Given the description of an element on the screen output the (x, y) to click on. 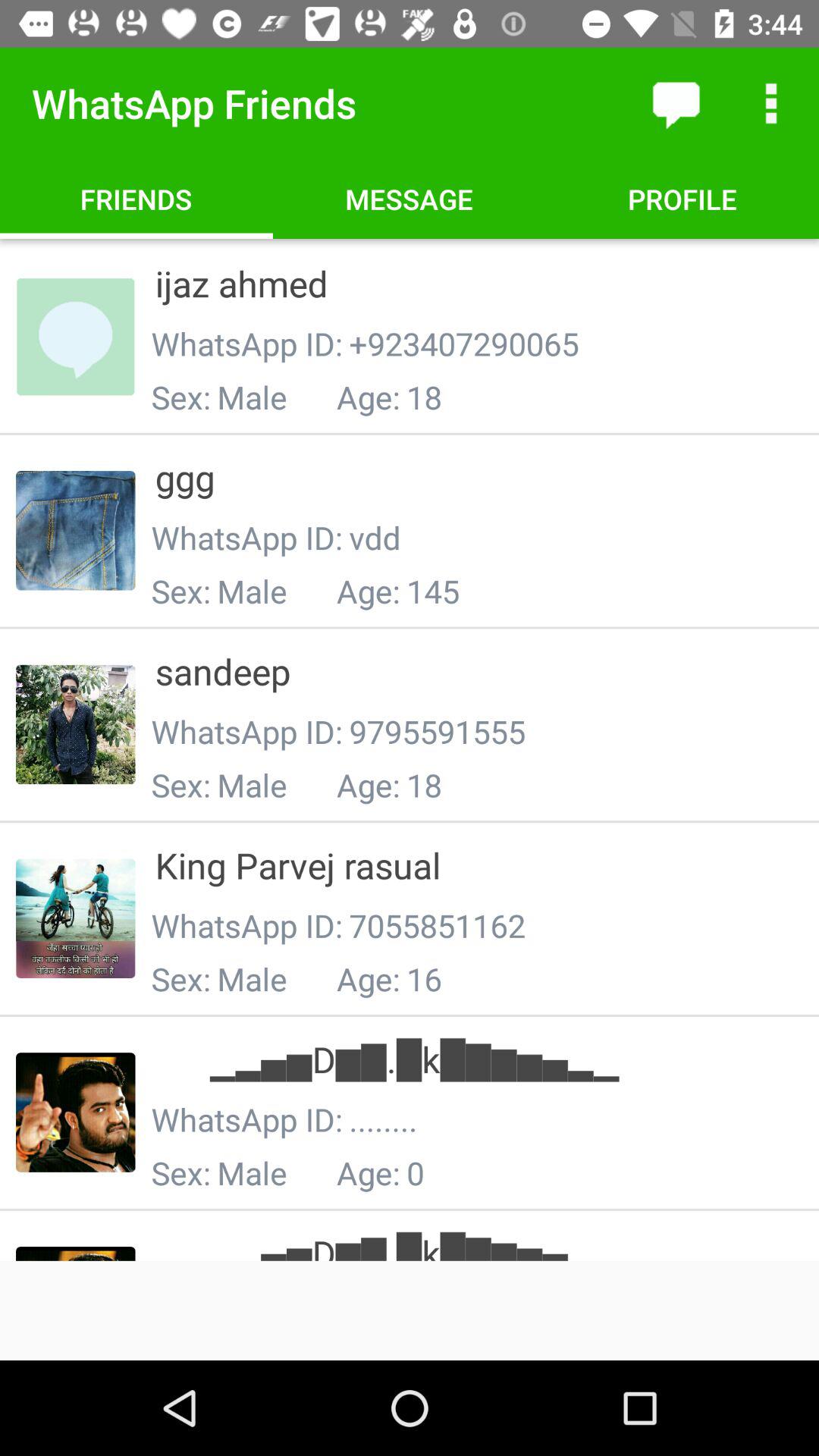
options (771, 103)
